Given the description of an element on the screen output the (x, y) to click on. 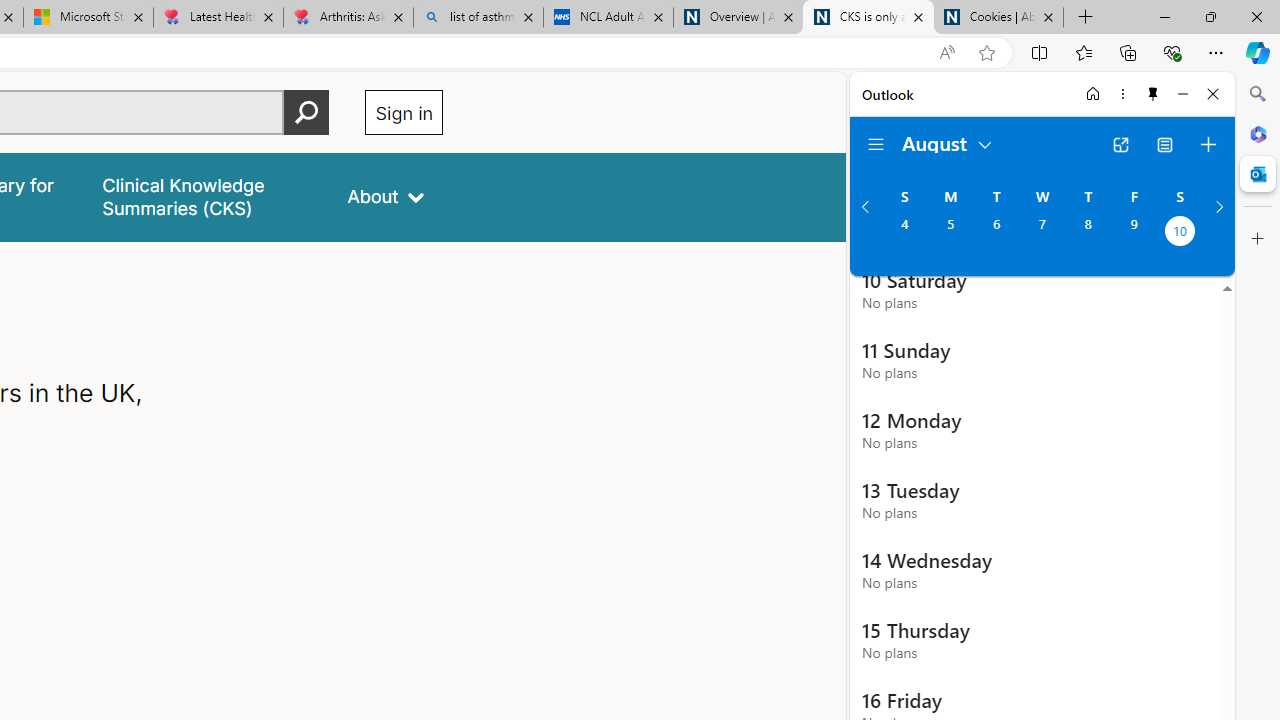
Friday, August 9, 2024.  (1134, 233)
Microsoft 365 (1258, 133)
list of asthma inhalers uk - Search (477, 17)
Microsoft Start (88, 17)
Close Outlook pane (1258, 174)
Restore (1210, 16)
Unpin side pane (1153, 93)
Minimize (1182, 93)
CKS is only available in the UK | NICE (868, 17)
Monday, August 5, 2024.  (950, 233)
Read aloud this page (Ctrl+Shift+U) (946, 53)
